Given the description of an element on the screen output the (x, y) to click on. 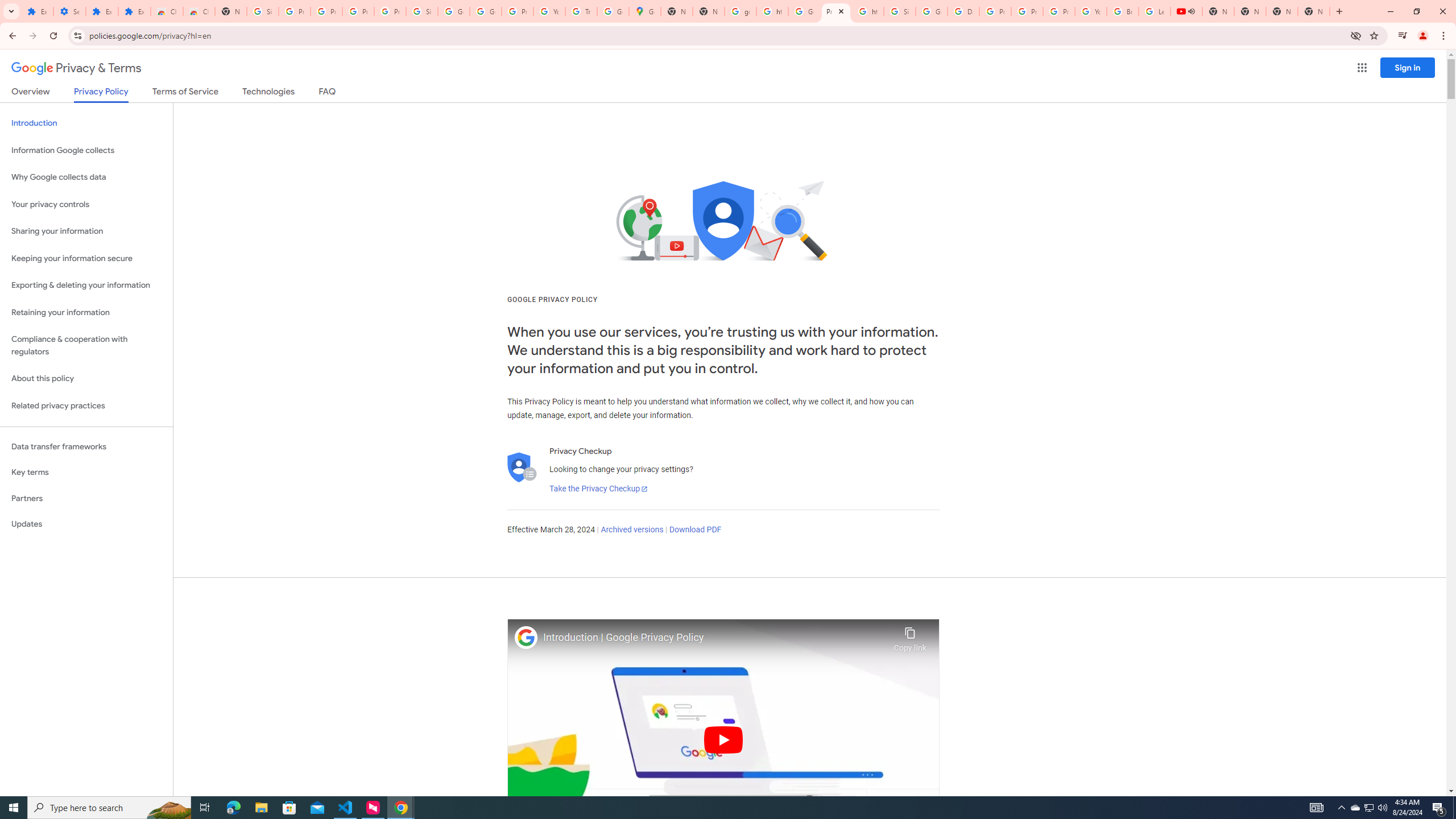
Chrome Web Store (166, 11)
Archived versions (631, 529)
Partners (86, 497)
Extensions (37, 11)
Google Maps (644, 11)
Sign in - Google Accounts (899, 11)
Exporting & deleting your information (86, 284)
